Given the description of an element on the screen output the (x, y) to click on. 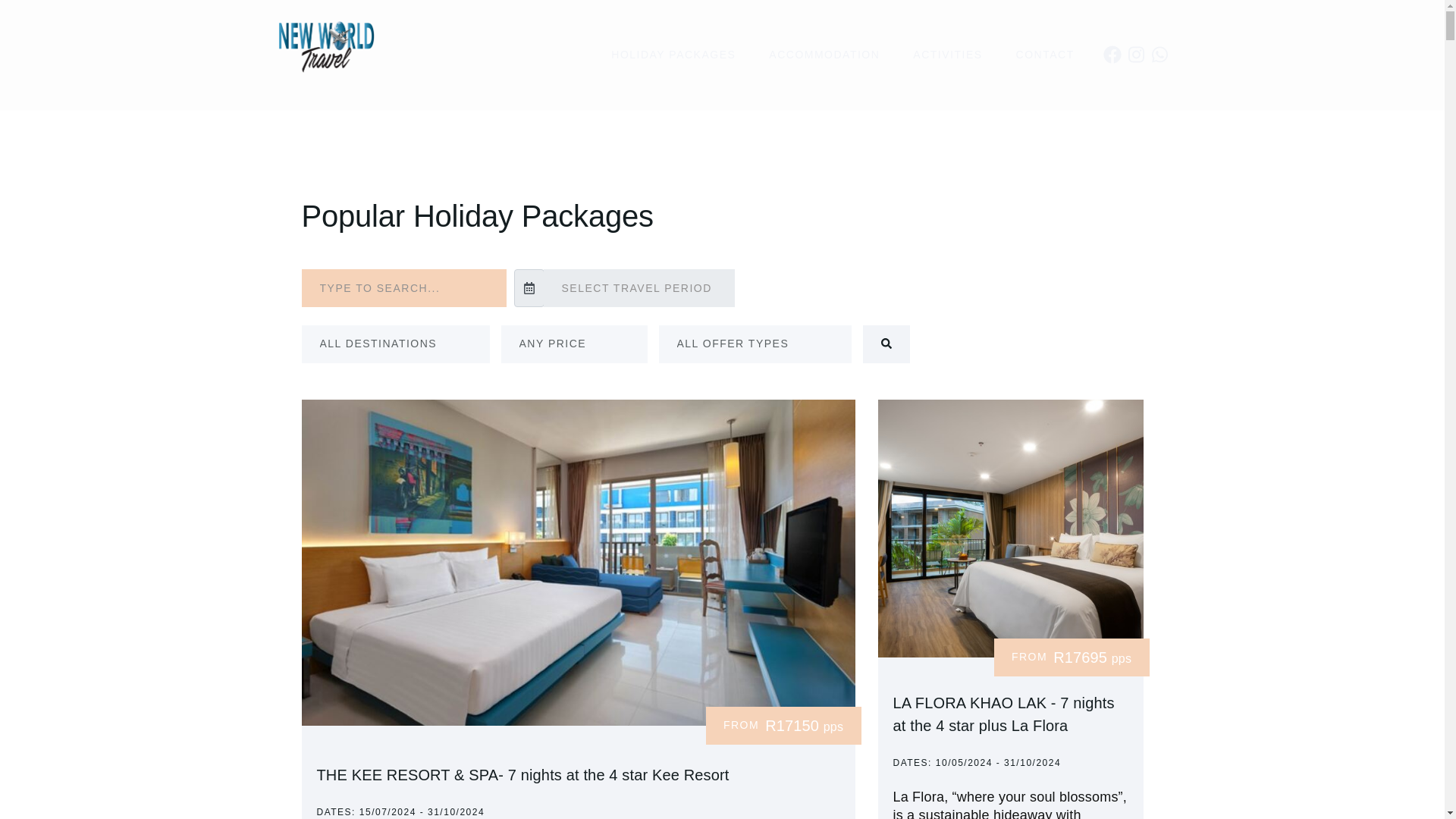
ACTIVITIES (947, 54)
CONTACT (1045, 54)
HOLIDAY PACKAGES (673, 54)
ACCOMMODATION (823, 54)
